Given the description of an element on the screen output the (x, y) to click on. 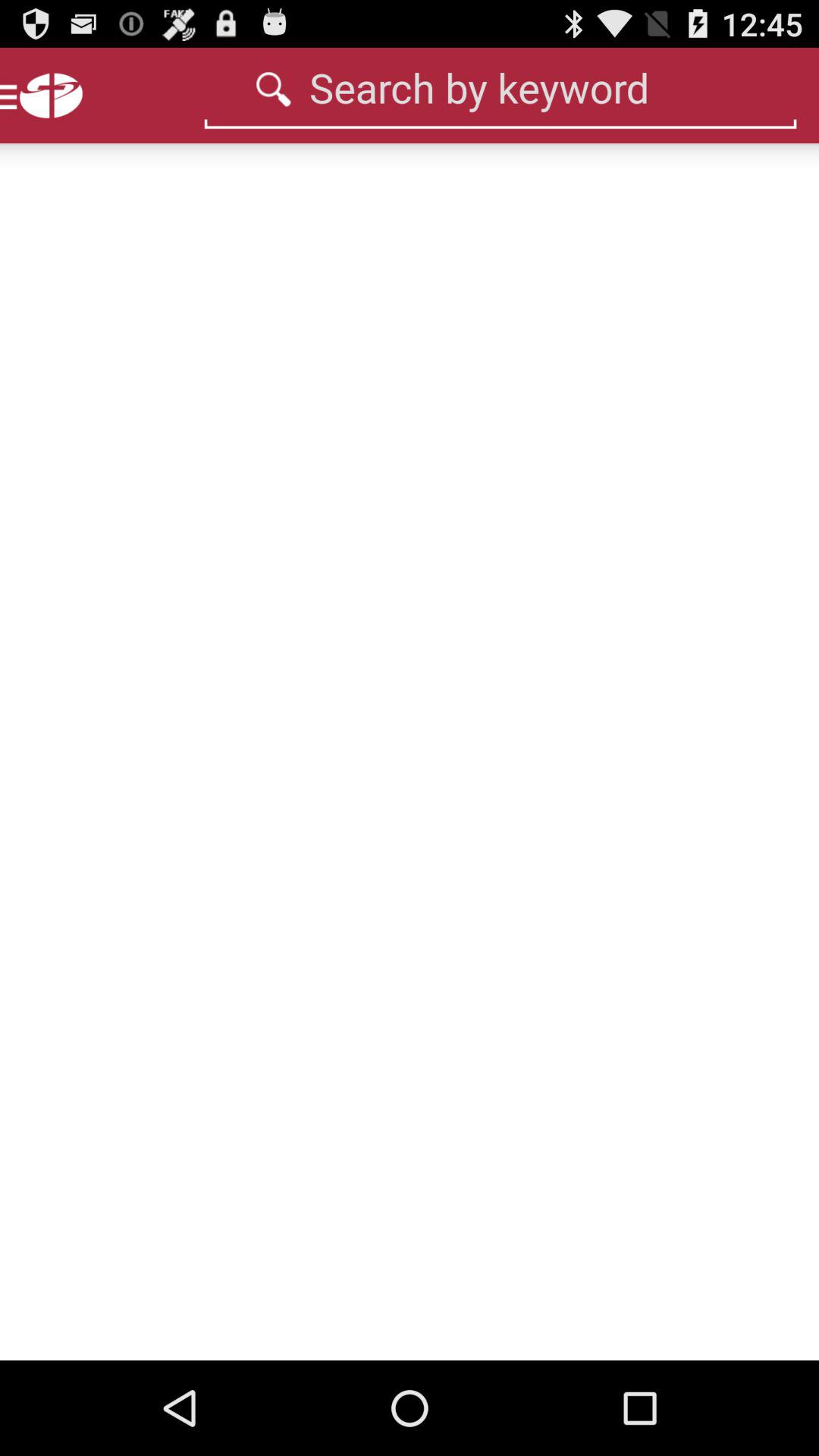
text box search by keyword (500, 87)
